Given the description of an element on the screen output the (x, y) to click on. 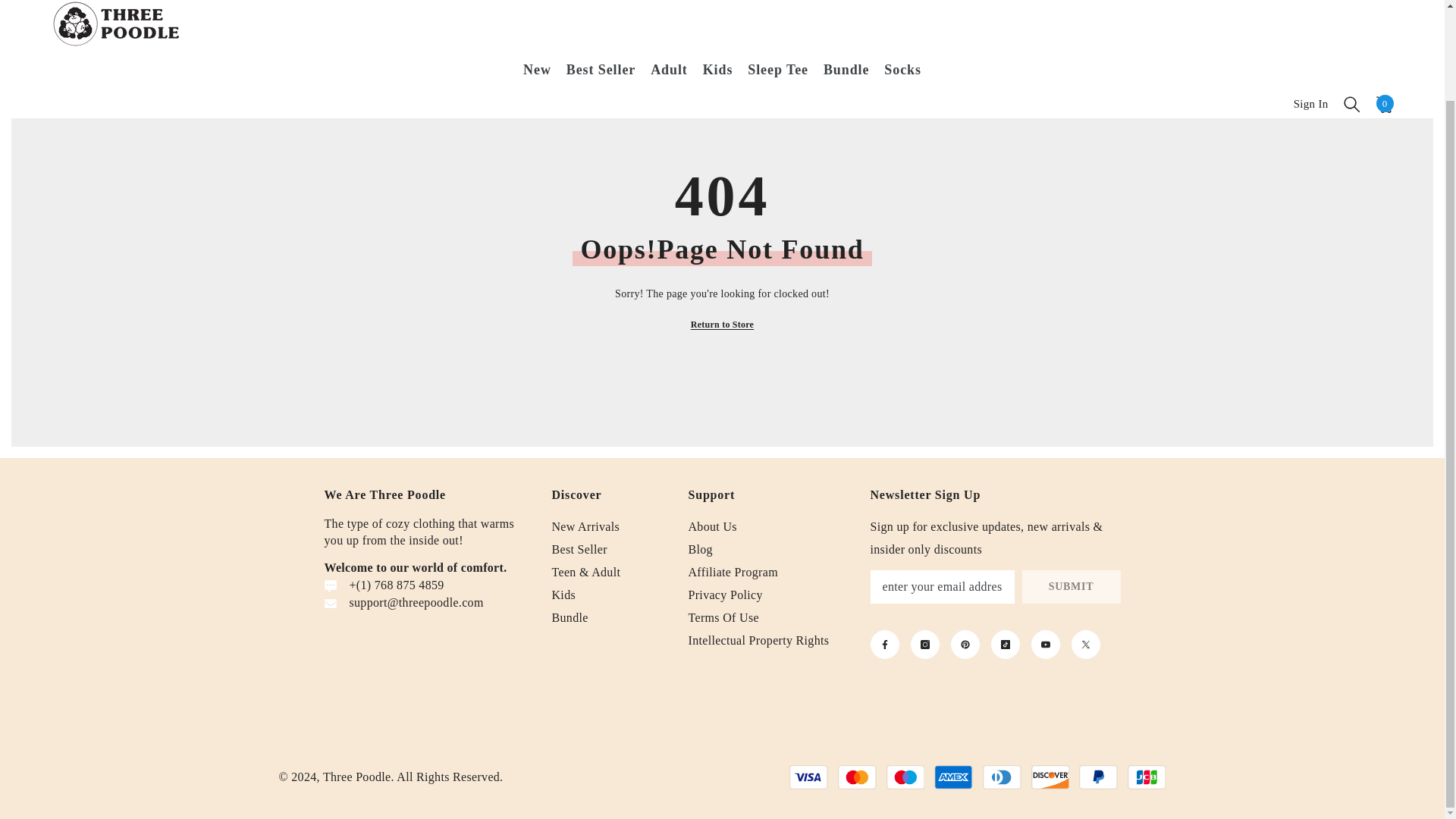
American Express (953, 776)
Socks (902, 7)
Mastercard (857, 776)
New (537, 10)
Kids (718, 7)
Discover (1050, 776)
Visa (808, 776)
Bundle (845, 7)
PayPal (1098, 776)
Maestro (905, 776)
